Given the description of an element on the screen output the (x, y) to click on. 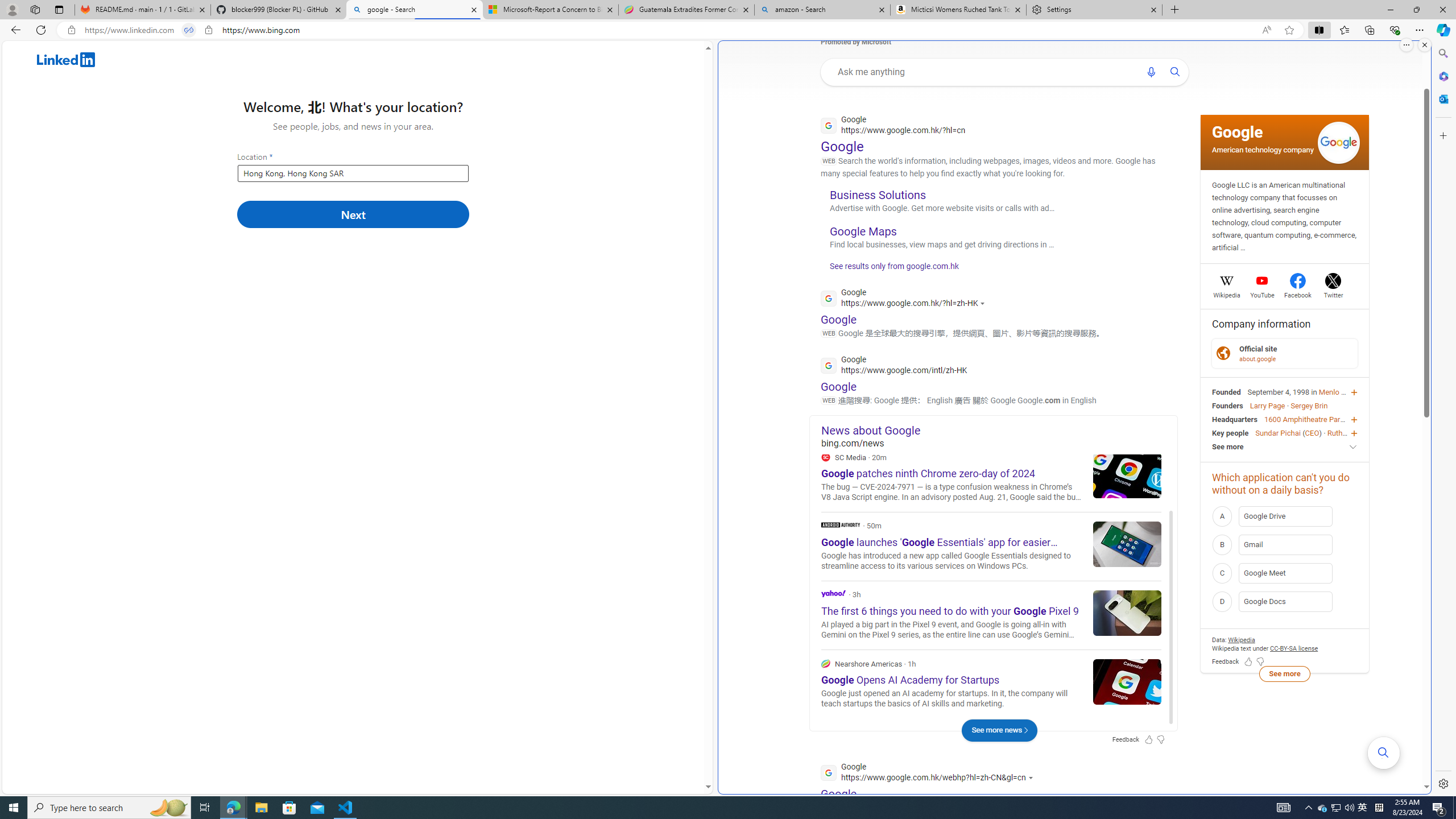
Nearshore Americas (991, 683)
Feedback Dislike (1260, 661)
AutomationID: uaseabtn (1175, 71)
Official Site Official site about.google (1284, 353)
YouTube (1261, 293)
